Given the description of an element on the screen output the (x, y) to click on. 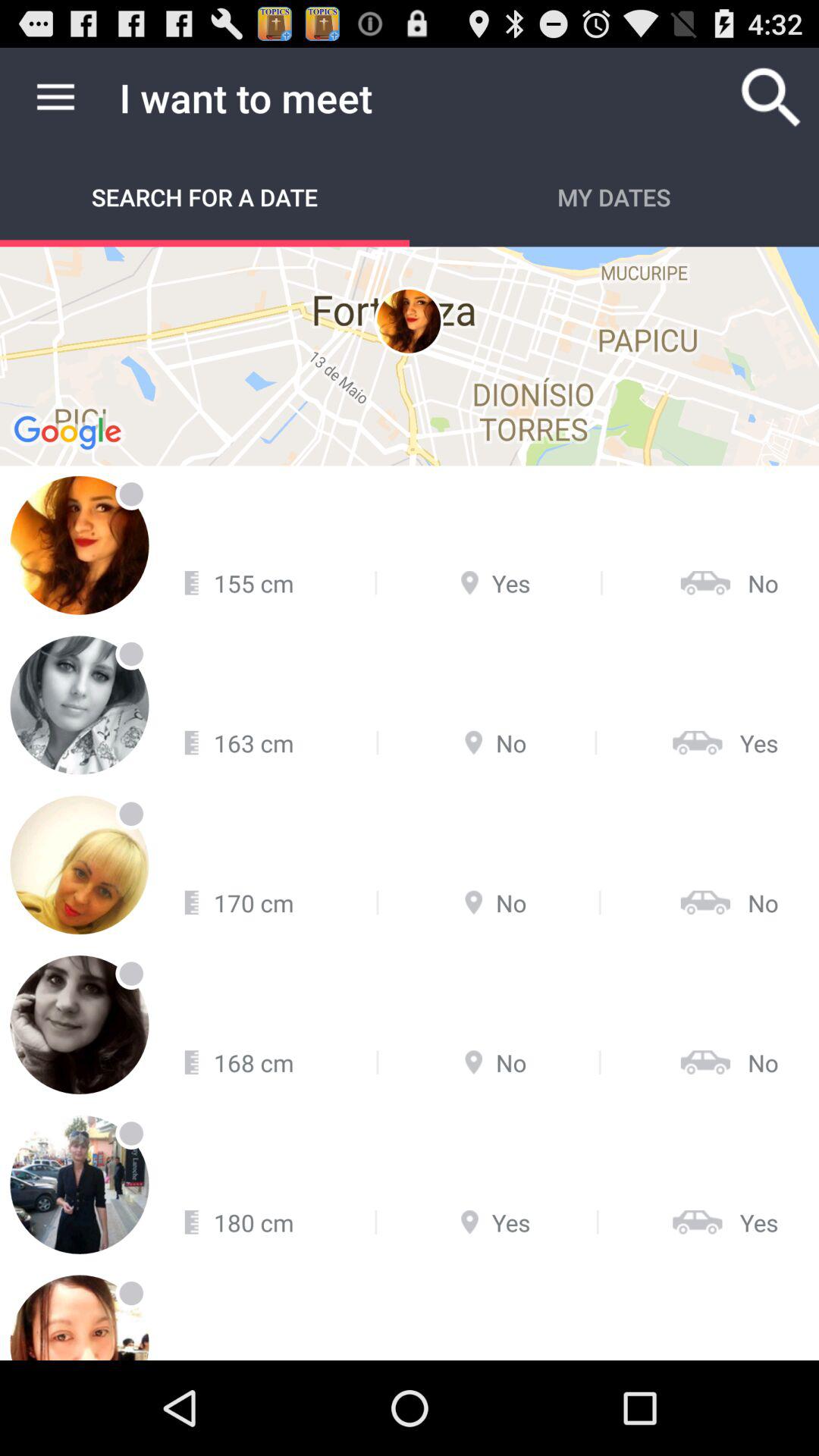
open item at the top (409, 355)
